Given the description of an element on the screen output the (x, y) to click on. 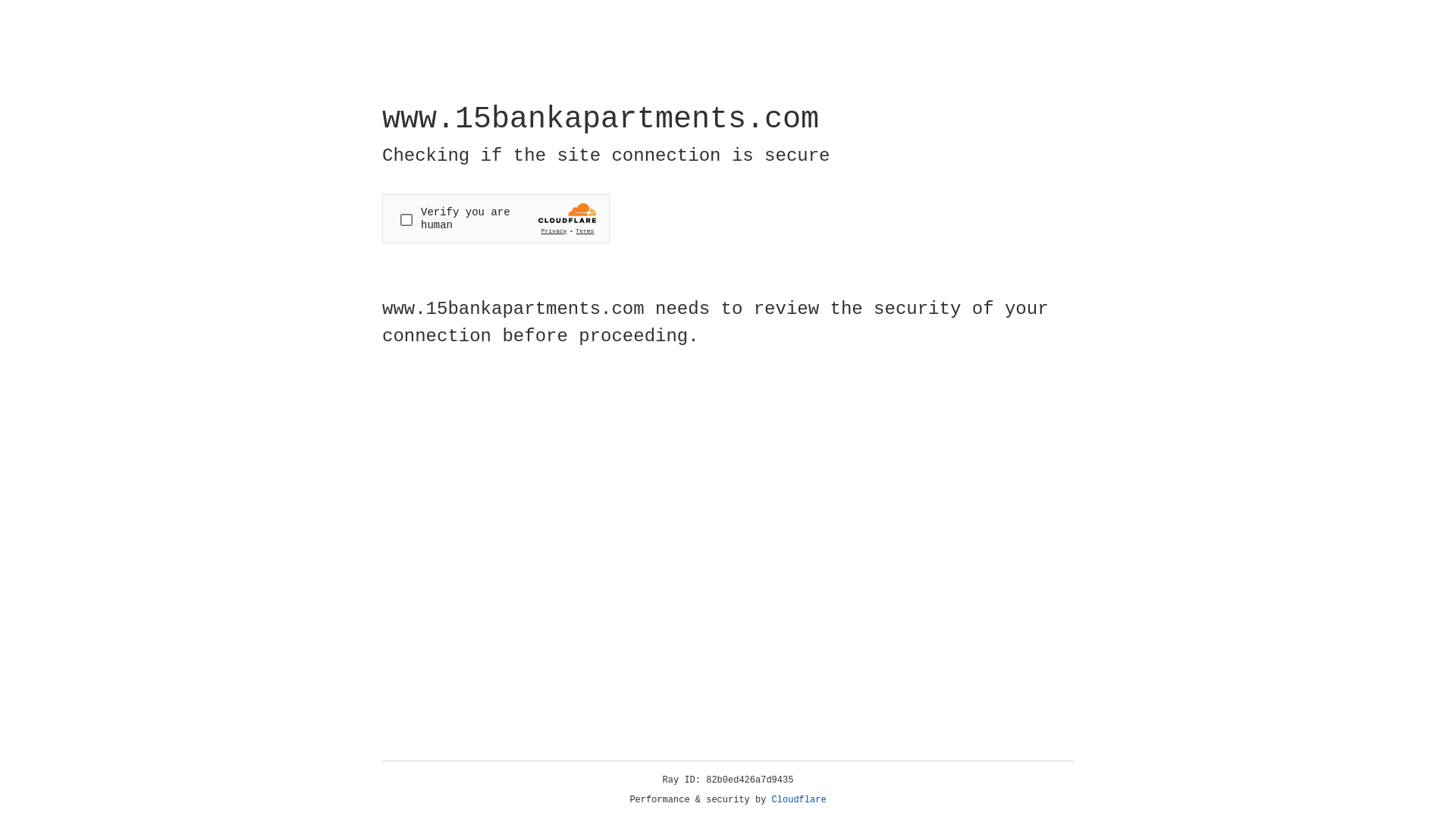
Widget containing a Cloudflare security challenge Element type: hover (495, 218)
Cloudflare Element type: text (798, 799)
